Given the description of an element on the screen output the (x, y) to click on. 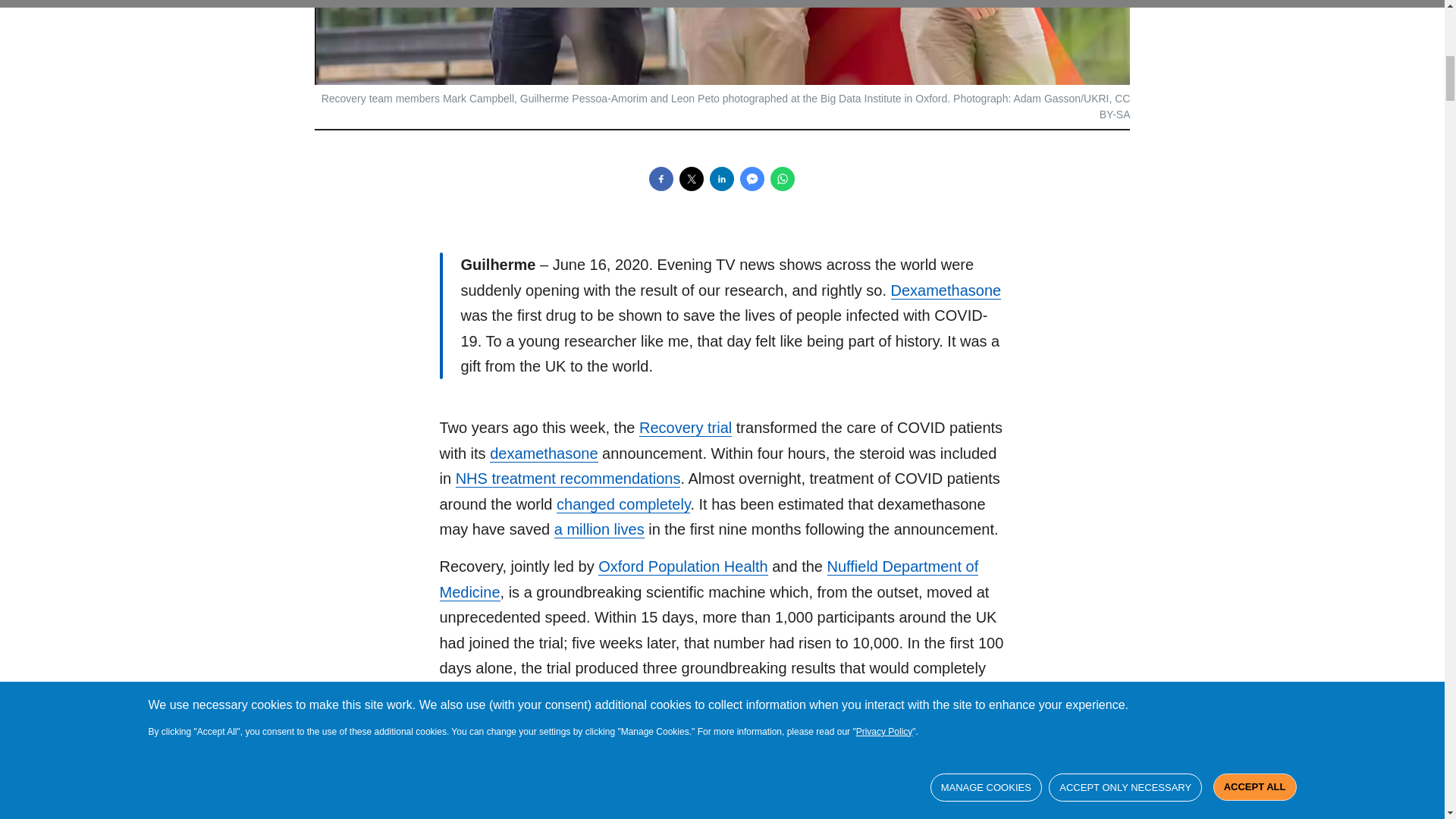
Oxford Population Health (682, 566)
Dexamethasone (945, 290)
NHS treatment recommendations (568, 478)
Recovery trial (685, 427)
Nuffield Department of Medicine (708, 578)
dexamethasone (542, 453)
a million lives (599, 529)
changed completely (623, 504)
